Given the description of an element on the screen output the (x, y) to click on. 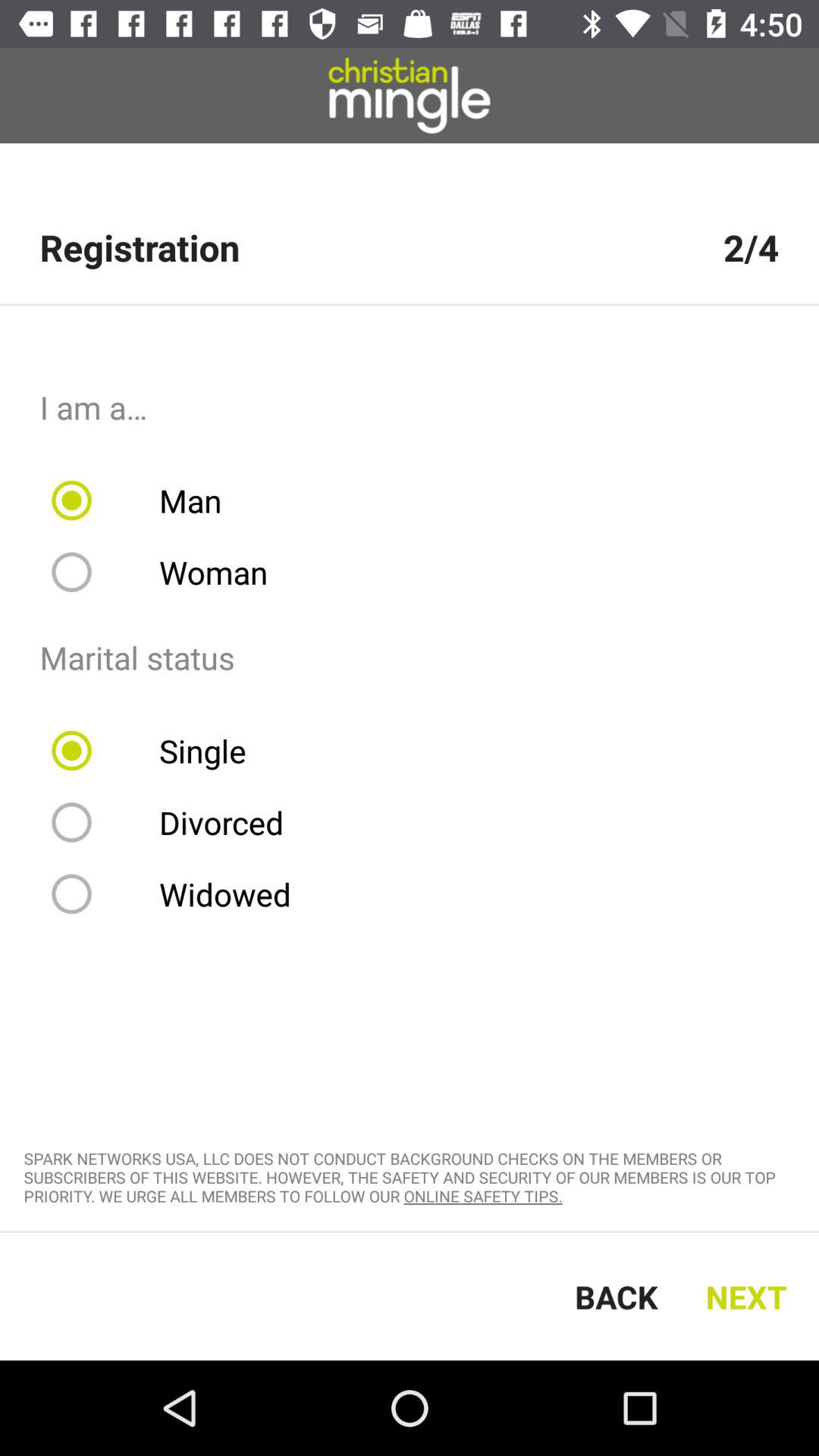
turn on the single item (158, 750)
